Given the description of an element on the screen output the (x, y) to click on. 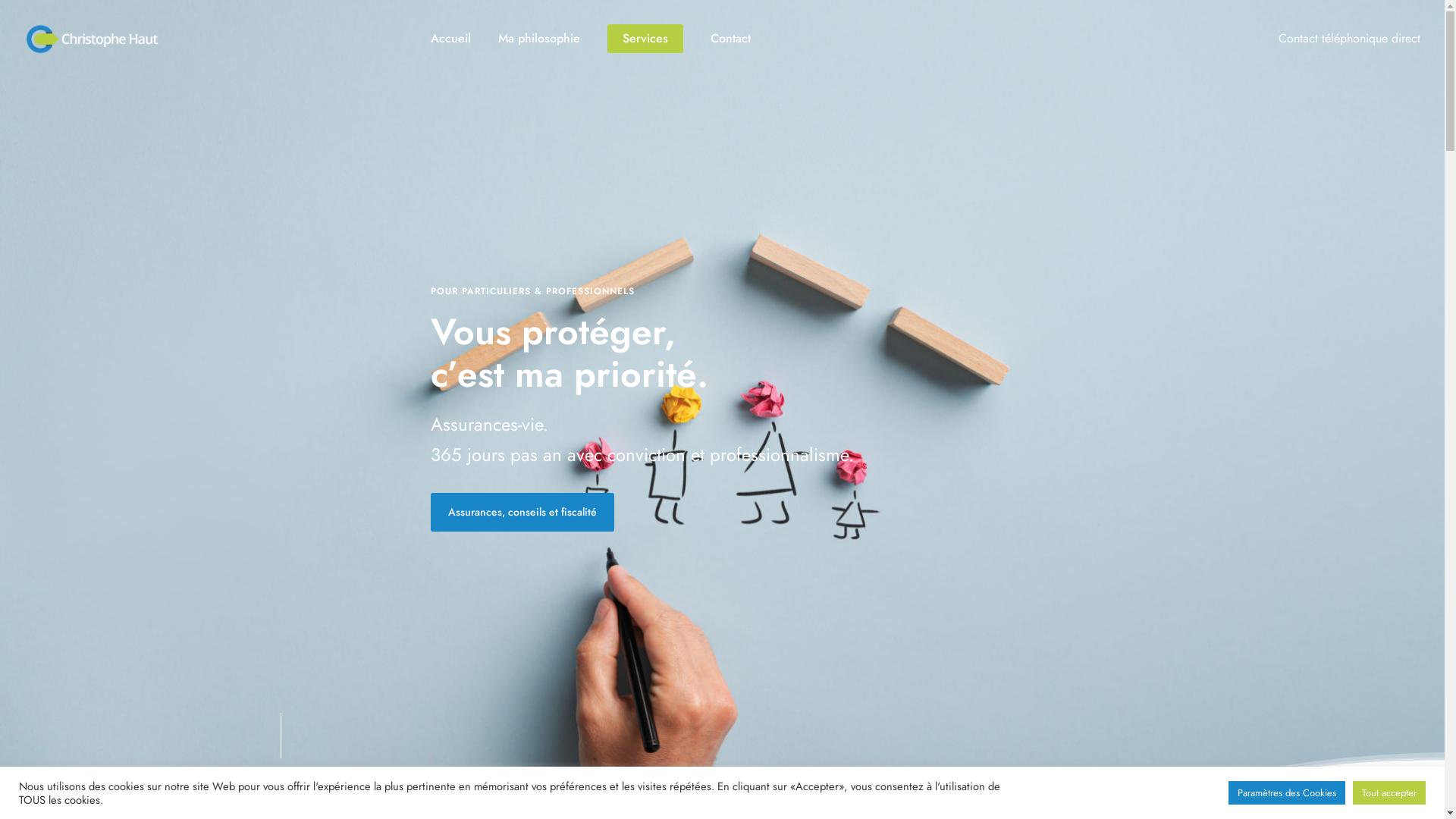
Contact Element type: text (729, 38)
Ma philosophie Element type: text (538, 38)
Tout accepter Element type: text (1388, 792)
Services Element type: text (644, 38)
Accueil Element type: text (450, 38)
